Given the description of an element on the screen output the (x, y) to click on. 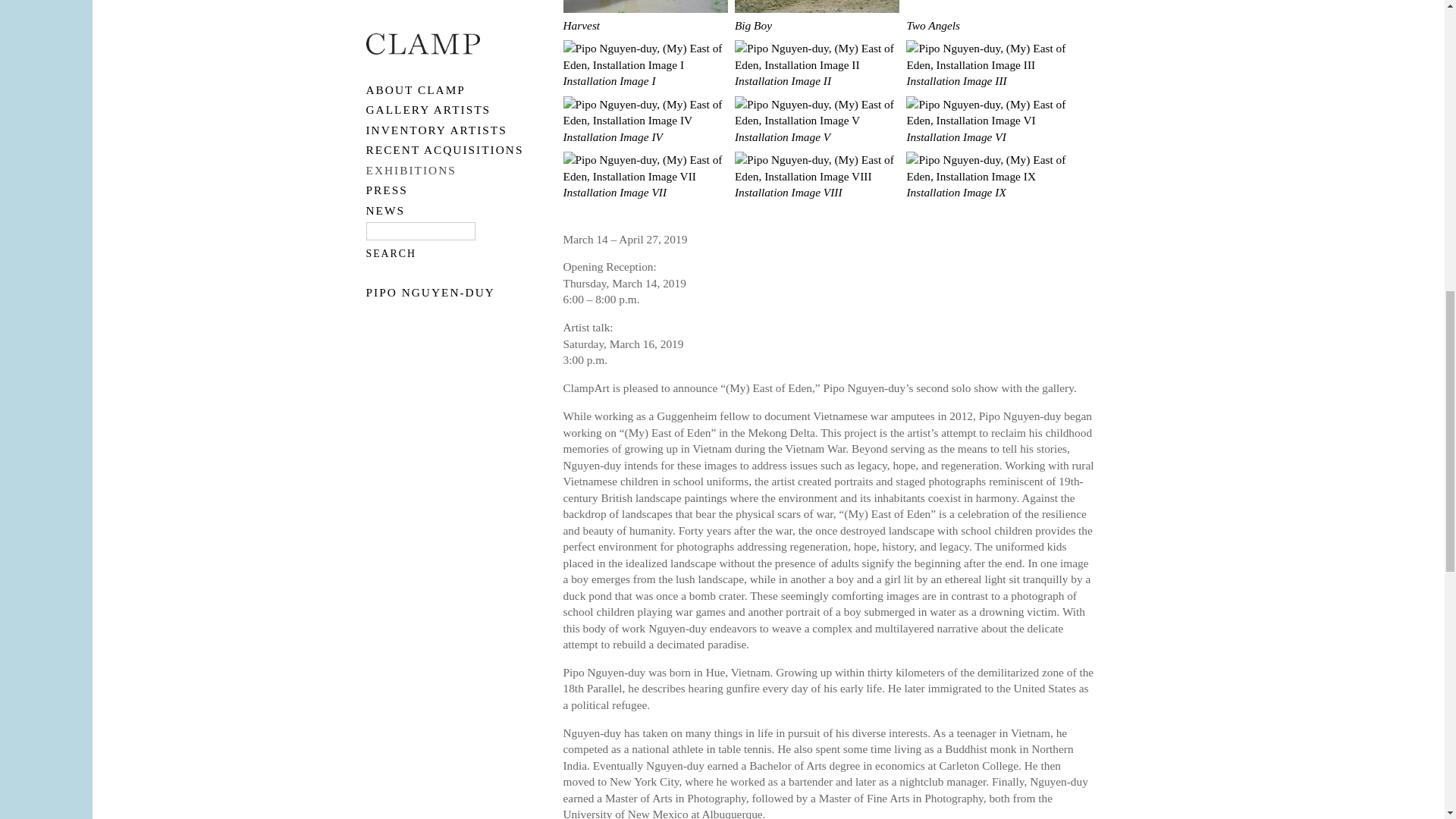
Big Boy (817, 17)
Installation Image V (817, 128)
Installation Image VIII (817, 184)
Installation Image VI (987, 128)
Installation Image I (644, 73)
Installation Image VII (644, 184)
Installation Image III (987, 73)
Installation Image II (817, 73)
Two Angels (987, 17)
Harvest (644, 17)
